Given the description of an element on the screen output the (x, y) to click on. 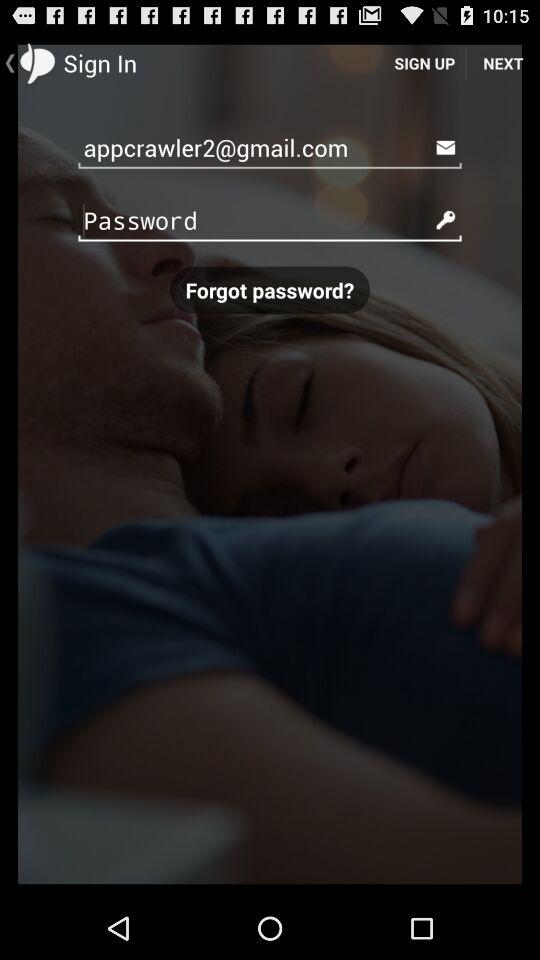
turn on the icon below the sign up icon (269, 146)
